Given the description of an element on the screen output the (x, y) to click on. 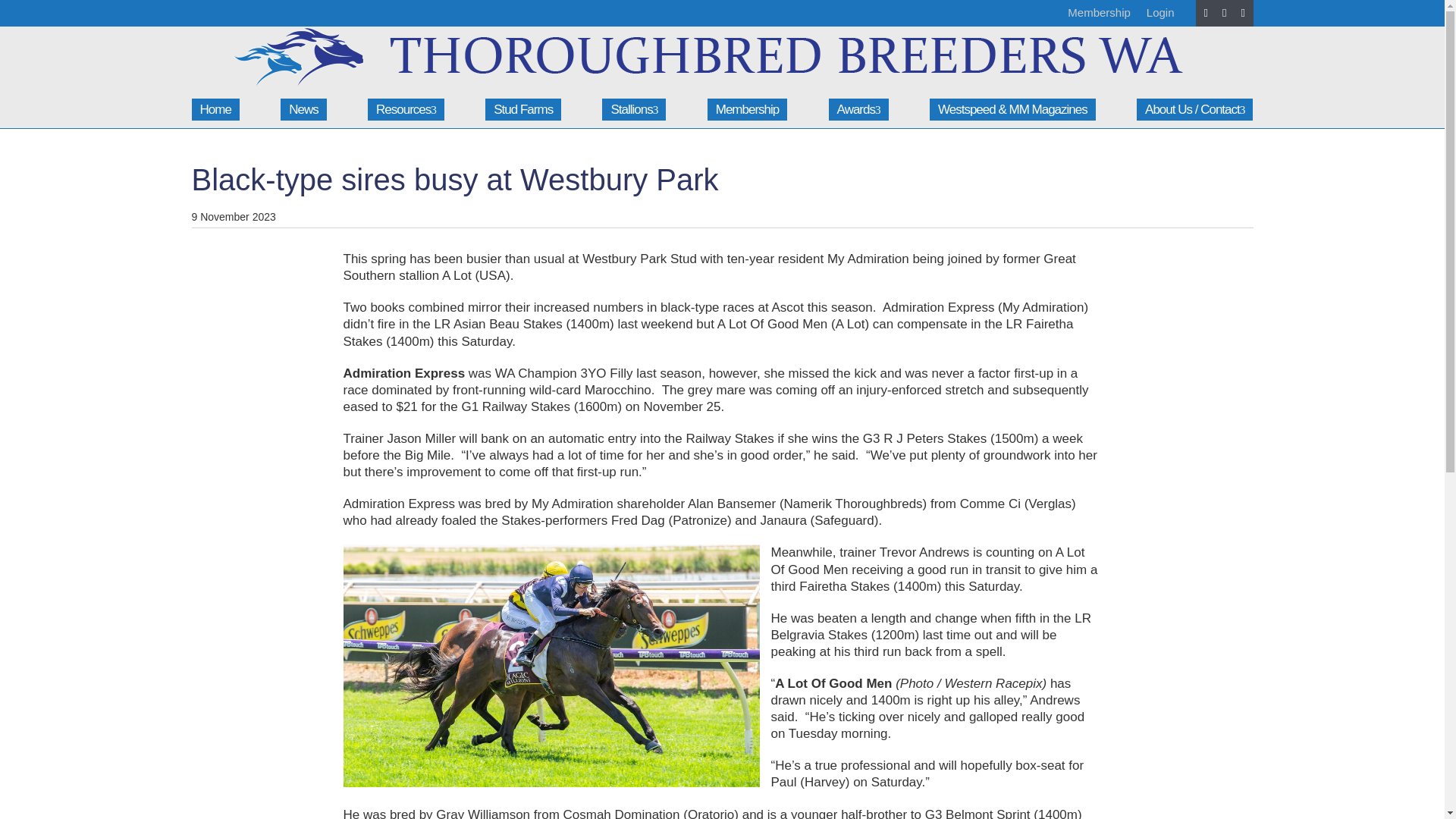
Membership (1098, 12)
News (303, 109)
Resources (406, 109)
Stallions (633, 109)
Awards (858, 109)
Membership (747, 109)
Login (1160, 12)
Home (214, 109)
Stud Farms (522, 109)
